Given the description of an element on the screen output the (x, y) to click on. 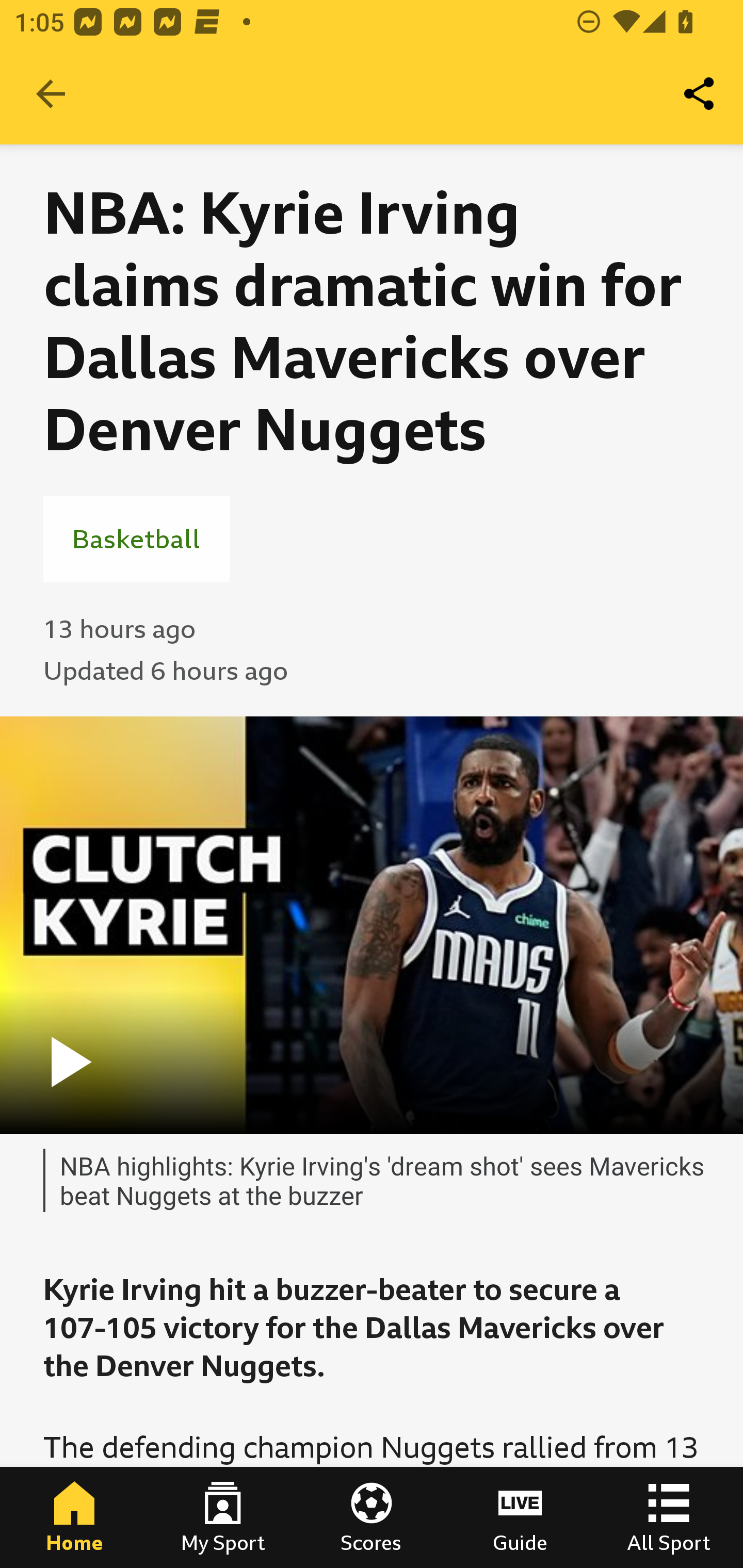
Navigate up (50, 93)
Share (699, 93)
Basketball (136, 538)
play fullscreen (371, 924)
My Sport (222, 1517)
Scores (371, 1517)
Guide (519, 1517)
All Sport (668, 1517)
